Given the description of an element on the screen output the (x, y) to click on. 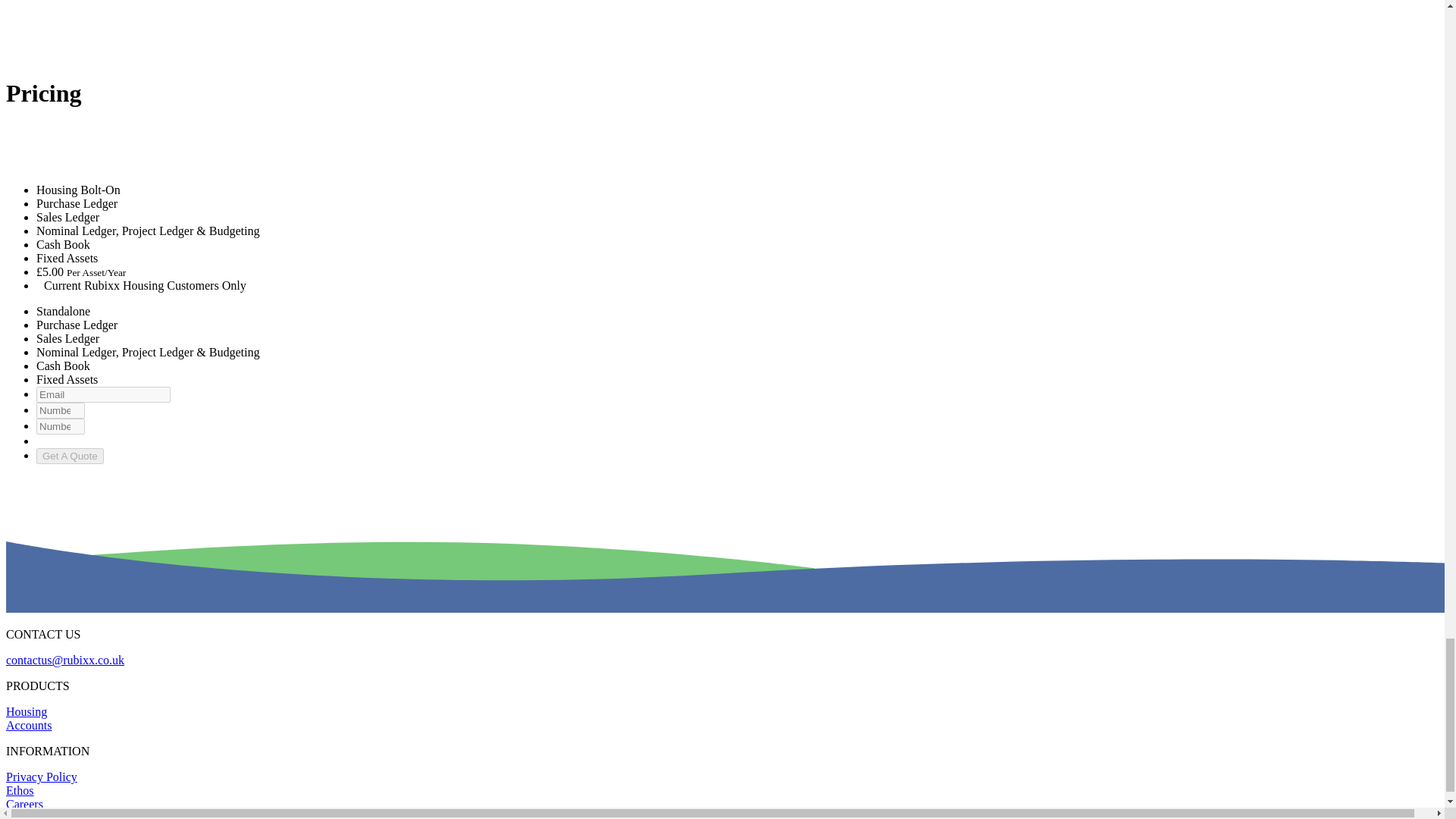
Careers (24, 803)
Housing (25, 711)
Privacy Policy (41, 776)
Ethos (19, 789)
Accounts (27, 725)
Get A Quote (69, 455)
